Given the description of an element on the screen output the (x, y) to click on. 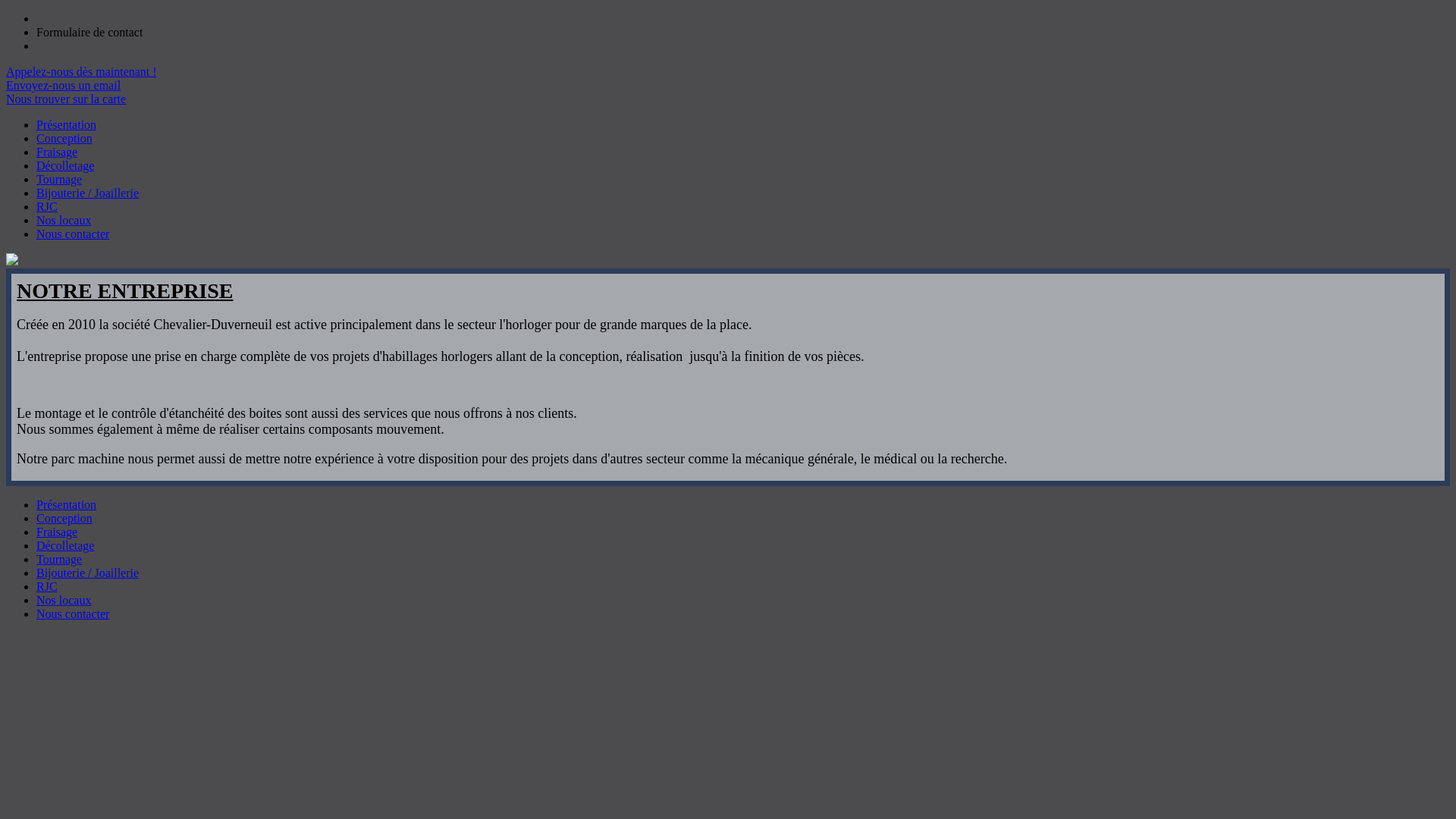
Nos locaux Element type: text (63, 599)
Fraisage Element type: text (56, 151)
Envoyez-nous un email Element type: text (63, 84)
RJC Element type: text (46, 206)
Nos locaux Element type: text (63, 219)
Nous contacter Element type: text (72, 233)
Tournage Element type: text (58, 558)
Bijouterie / Joaillerie Element type: text (87, 192)
Tournage Element type: text (58, 178)
Conception Element type: text (64, 517)
Nous contacter Element type: text (72, 613)
Nous trouver sur la carte Element type: text (65, 98)
RJC Element type: text (46, 586)
Fraisage Element type: text (56, 531)
Bijouterie / Joaillerie Element type: text (87, 572)
Conception Element type: text (64, 137)
